Given the description of an element on the screen output the (x, y) to click on. 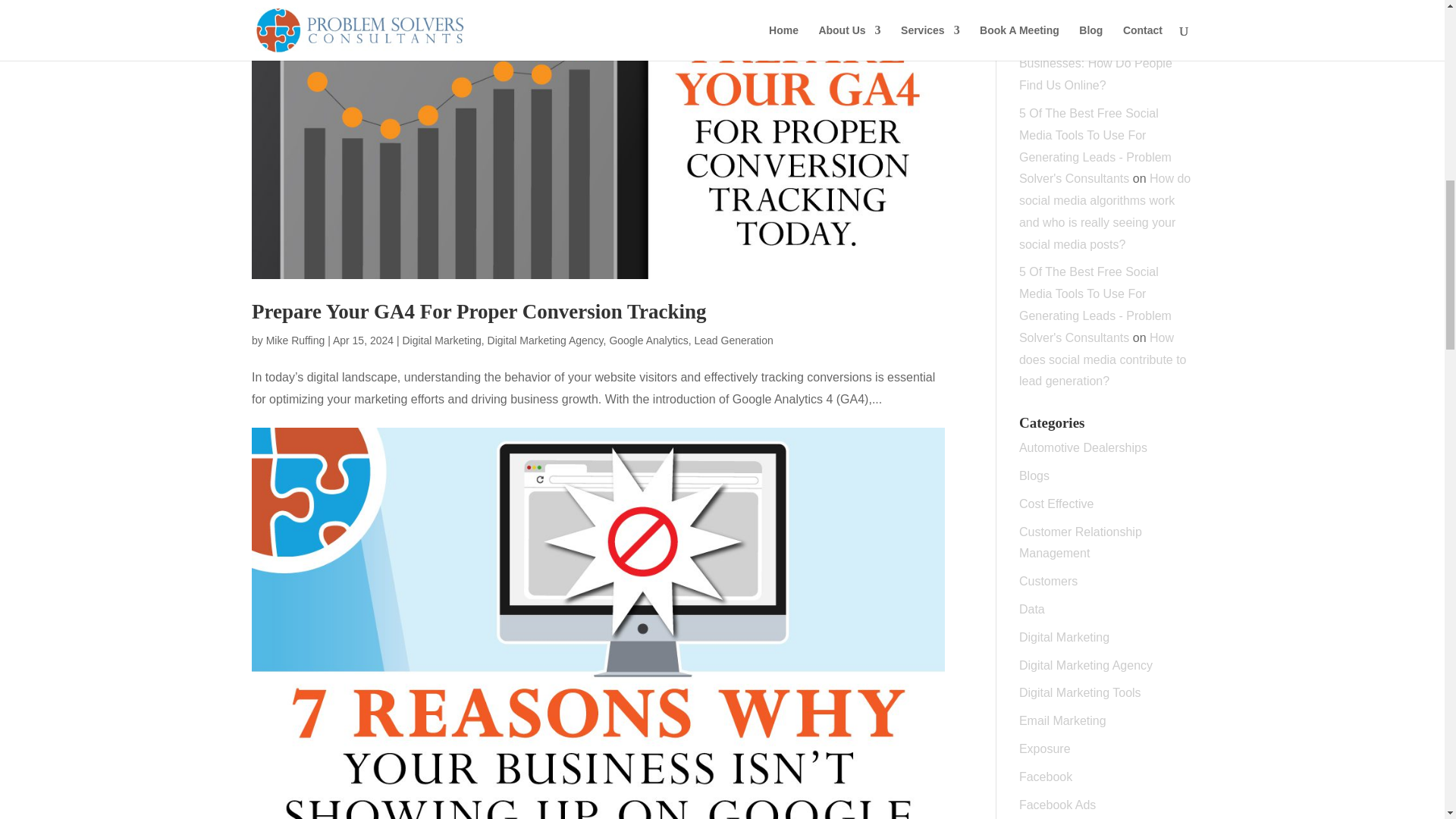
Prepare Your GA4 For Proper Conversion Tracking (478, 311)
Google Analytics (647, 340)
Mike Ruffing (295, 340)
Digital Marketing (440, 340)
Posts by Mike Ruffing (295, 340)
Digital Marketing Agency (545, 340)
Lead Generation (733, 340)
